Given the description of an element on the screen output the (x, y) to click on. 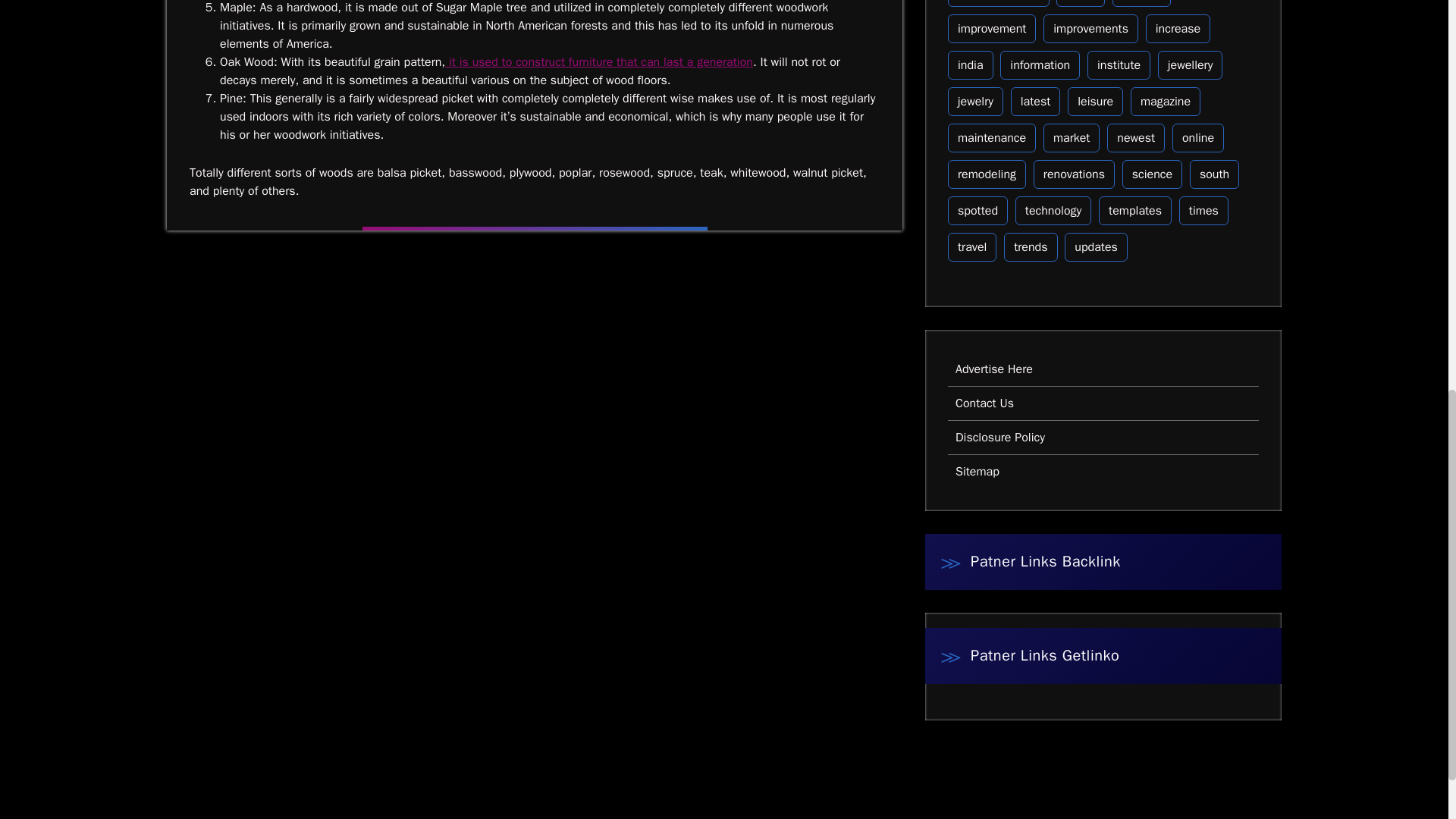
it is used to construct furniture that can last a generation (598, 61)
